Given the description of an element on the screen output the (x, y) to click on. 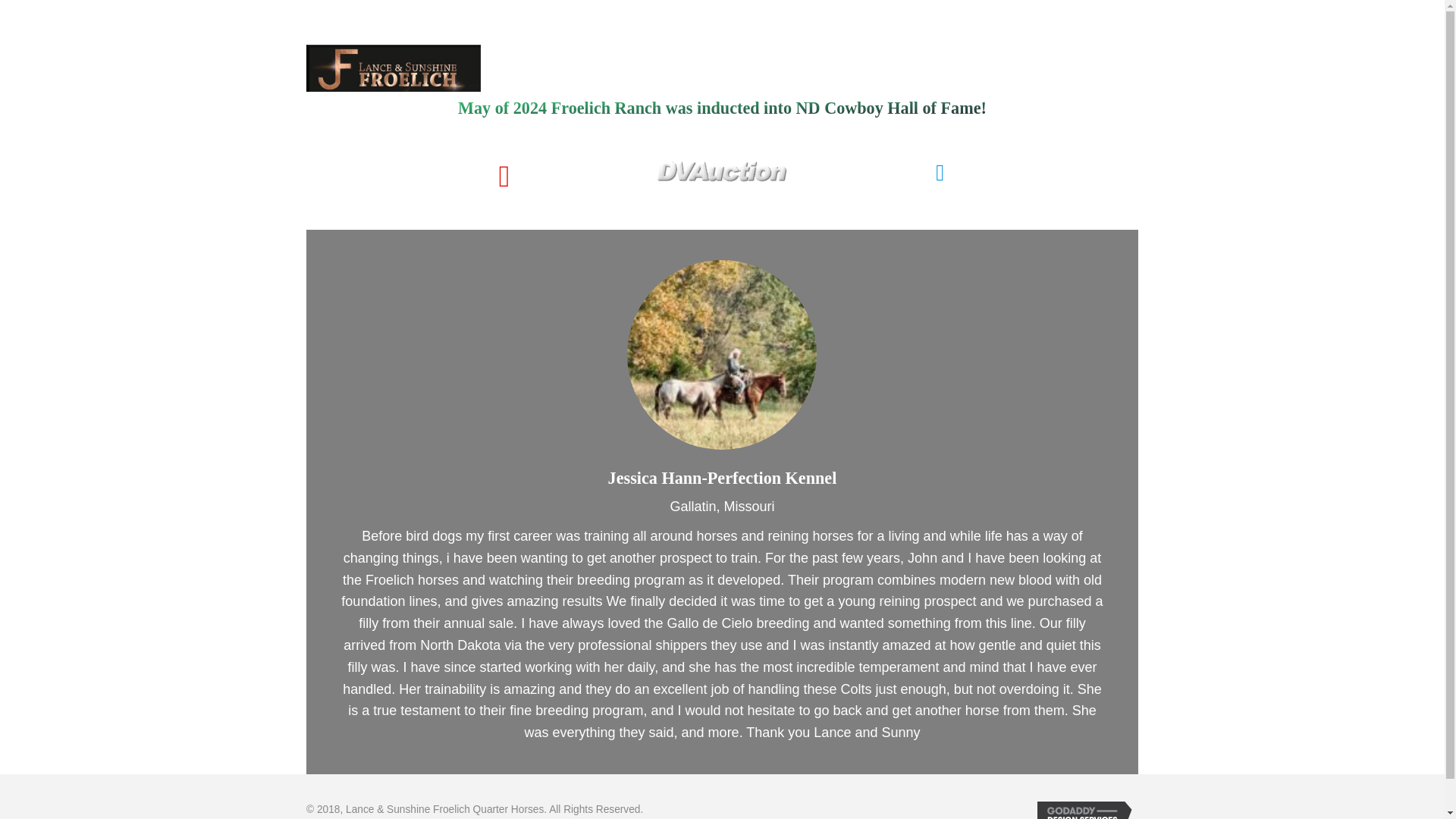
Contact Us (1091, 8)
Sale Barn (950, 8)
Gallery (1023, 8)
Broodmares (864, 8)
Home (662, 8)
About Us (723, 8)
Stallions (790, 8)
